Given the description of an element on the screen output the (x, y) to click on. 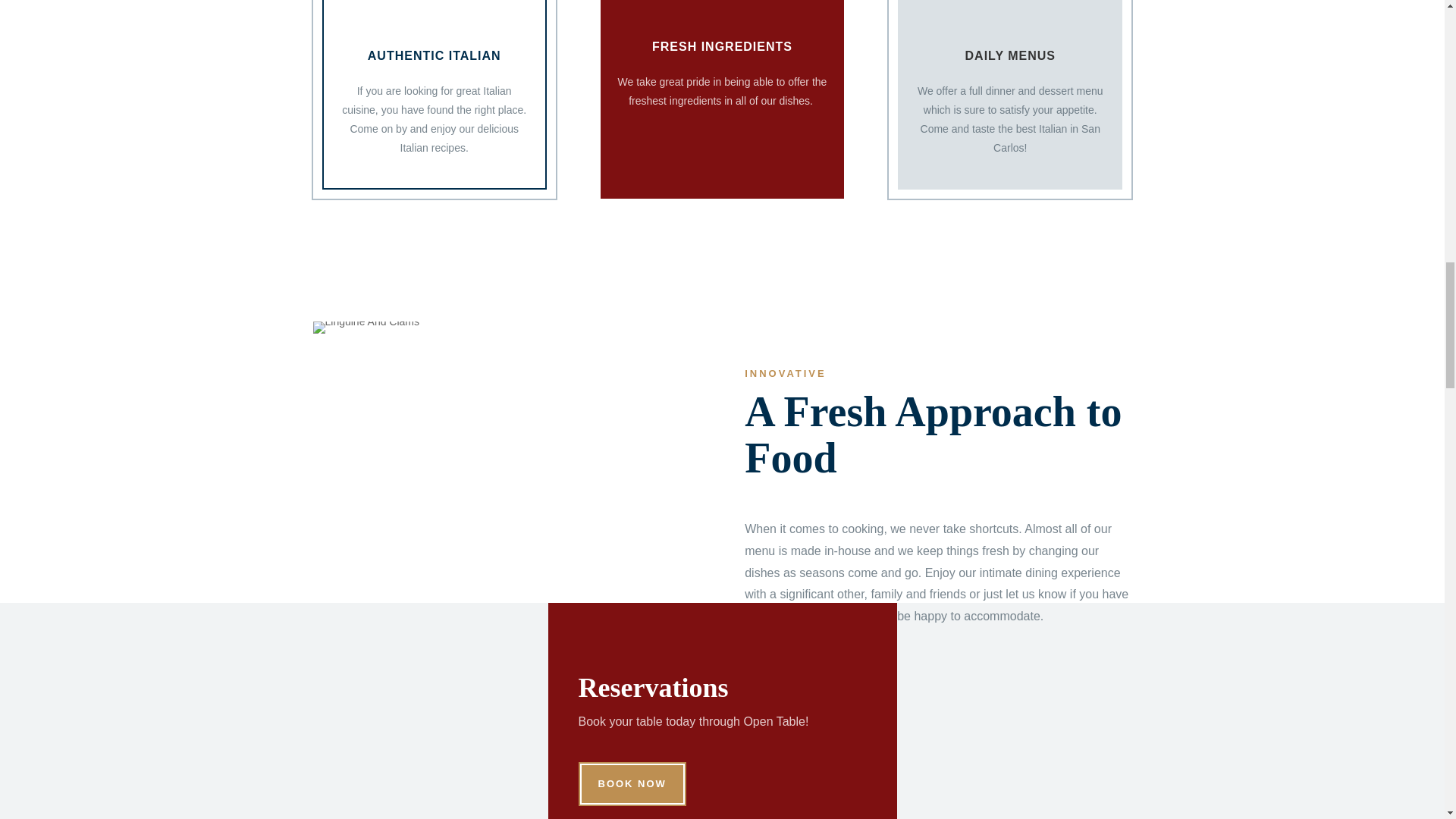
BOOK NOW (631, 783)
Linguine And Clams (366, 327)
